Given the description of an element on the screen output the (x, y) to click on. 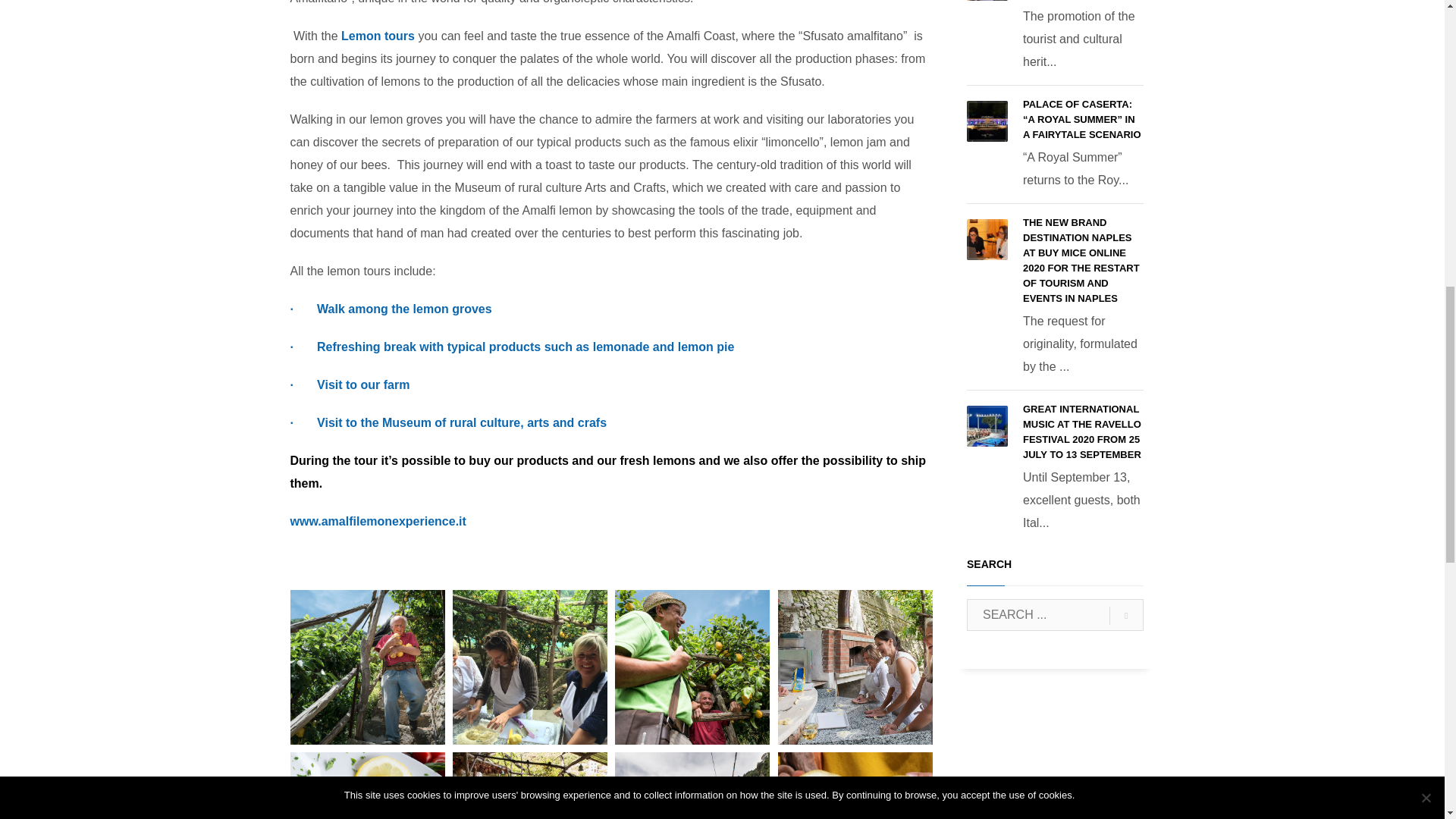
Cooking-031 (529, 666)
facce-gigino011 (691, 666)
lemon-tour-piatti01406131855 (366, 785)
facce-gigino013 (366, 666)
